Given the description of an element on the screen output the (x, y) to click on. 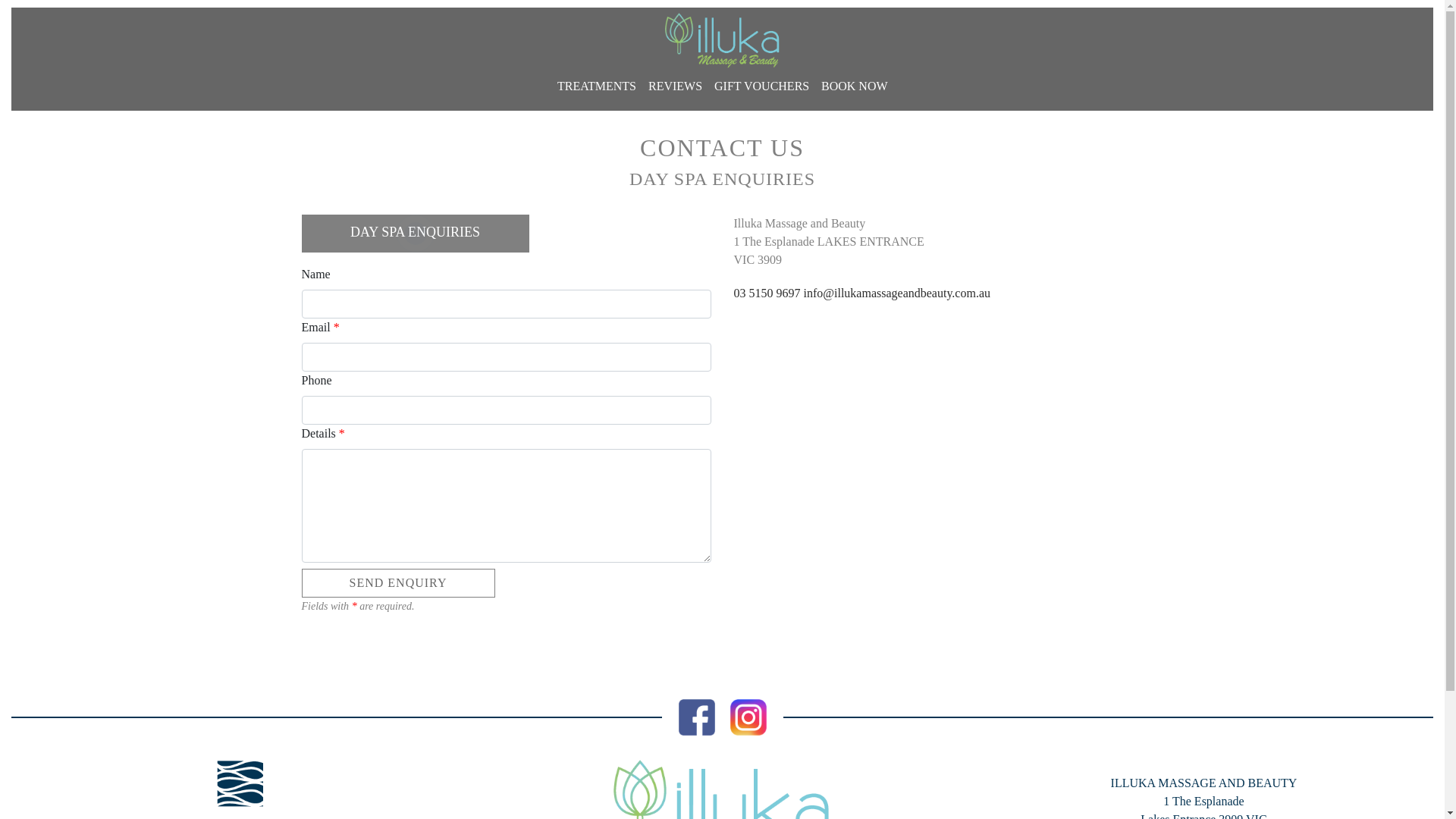
Send Enquiry Element type: text (398, 582)
info@illukamassageandbeauty.com.au Element type: text (897, 292)
Instagram Element type: hover (747, 715)
GIFT VOUCHERS Element type: text (761, 86)
TREATMENTS Element type: text (596, 86)
BOOK NOW Element type: text (854, 86)
03 5150 9697 Element type: text (767, 292)
Facebook Element type: hover (695, 715)
REVIEWS Element type: text (675, 86)
